Given the description of an element on the screen output the (x, y) to click on. 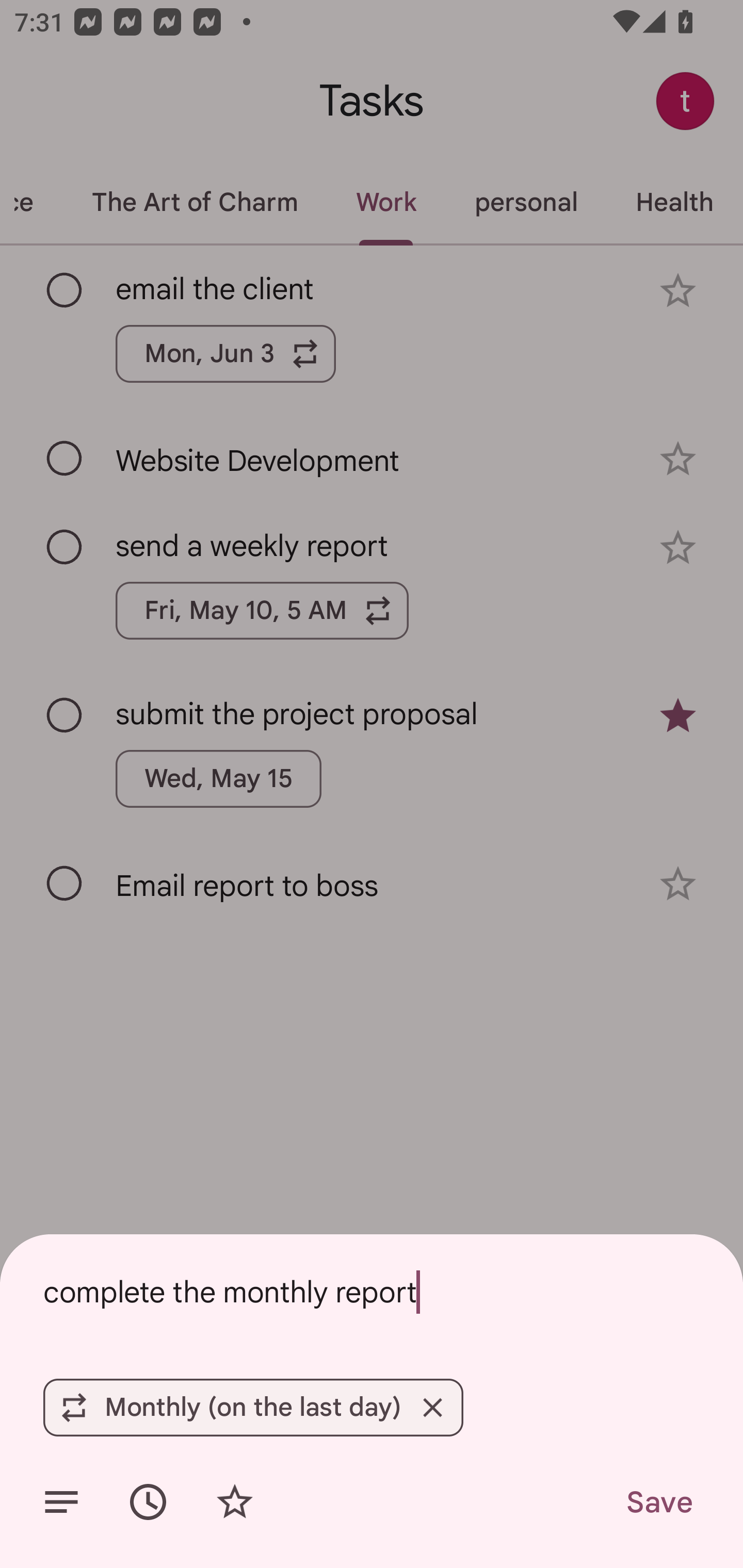
complete the monthly report (371, 1291)
Save (659, 1501)
Add details (60, 1501)
Set date/time (147, 1501)
Add star (234, 1501)
